Given the description of an element on the screen output the (x, y) to click on. 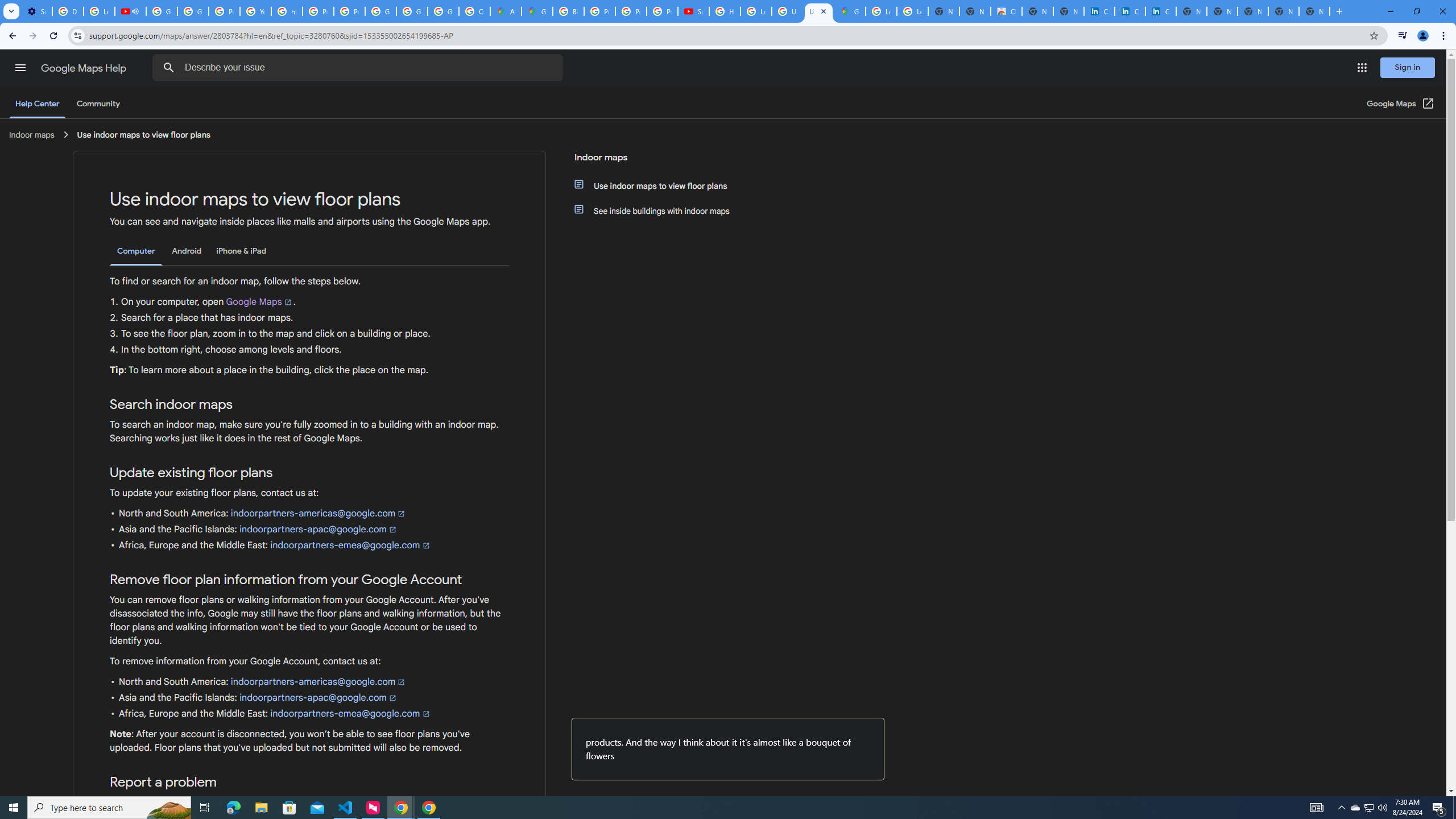
Search Help Center (168, 67)
Help Center (36, 103)
indoorpartners-emea@google.com (350, 713)
Copyright Policy (1160, 11)
New Tab (1314, 11)
iPhone & iPad (240, 250)
Cookie Policy | LinkedIn (1098, 11)
